Given the description of an element on the screen output the (x, y) to click on. 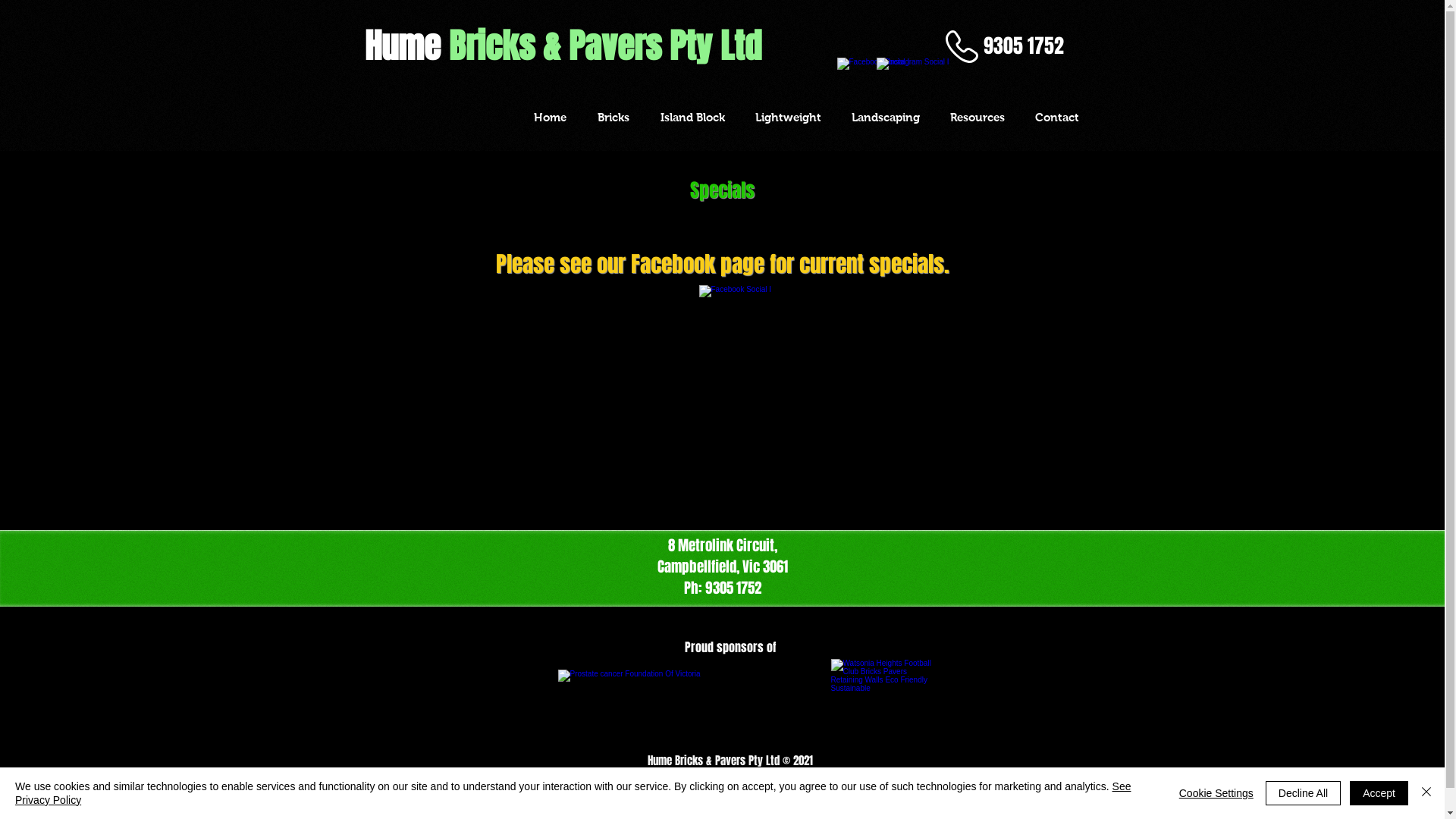
Contact Element type: text (1056, 117)
Landscaping Element type: text (884, 117)
Decline All Element type: text (1302, 793)
Prostate cancer Foundation Of Victoria Element type: hover (655, 704)
See Privacy Policy Element type: text (572, 793)
Bricks Element type: text (613, 117)
Island Block Element type: text (691, 117)
Watsonia Heights Football Club Element type: hover (882, 704)
Home Element type: text (550, 117)
9305 1752 Element type: text (1023, 46)
Lightweight Element type: text (788, 117)
Accept Element type: text (1378, 793)
Resources Element type: text (976, 117)
